Given the description of an element on the screen output the (x, y) to click on. 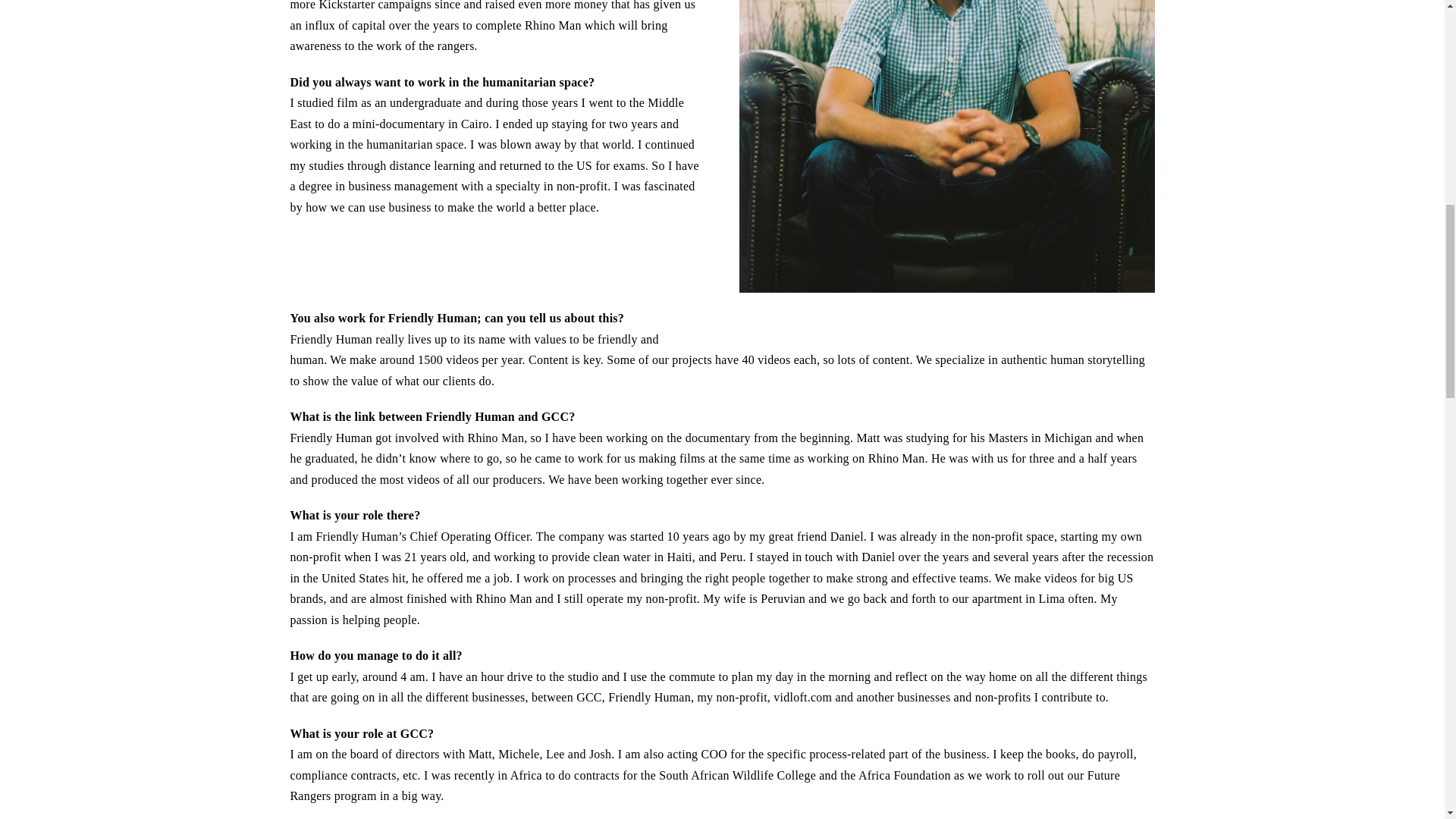
Justin Walker Board Picture (946, 146)
